Given the description of an element on the screen output the (x, y) to click on. 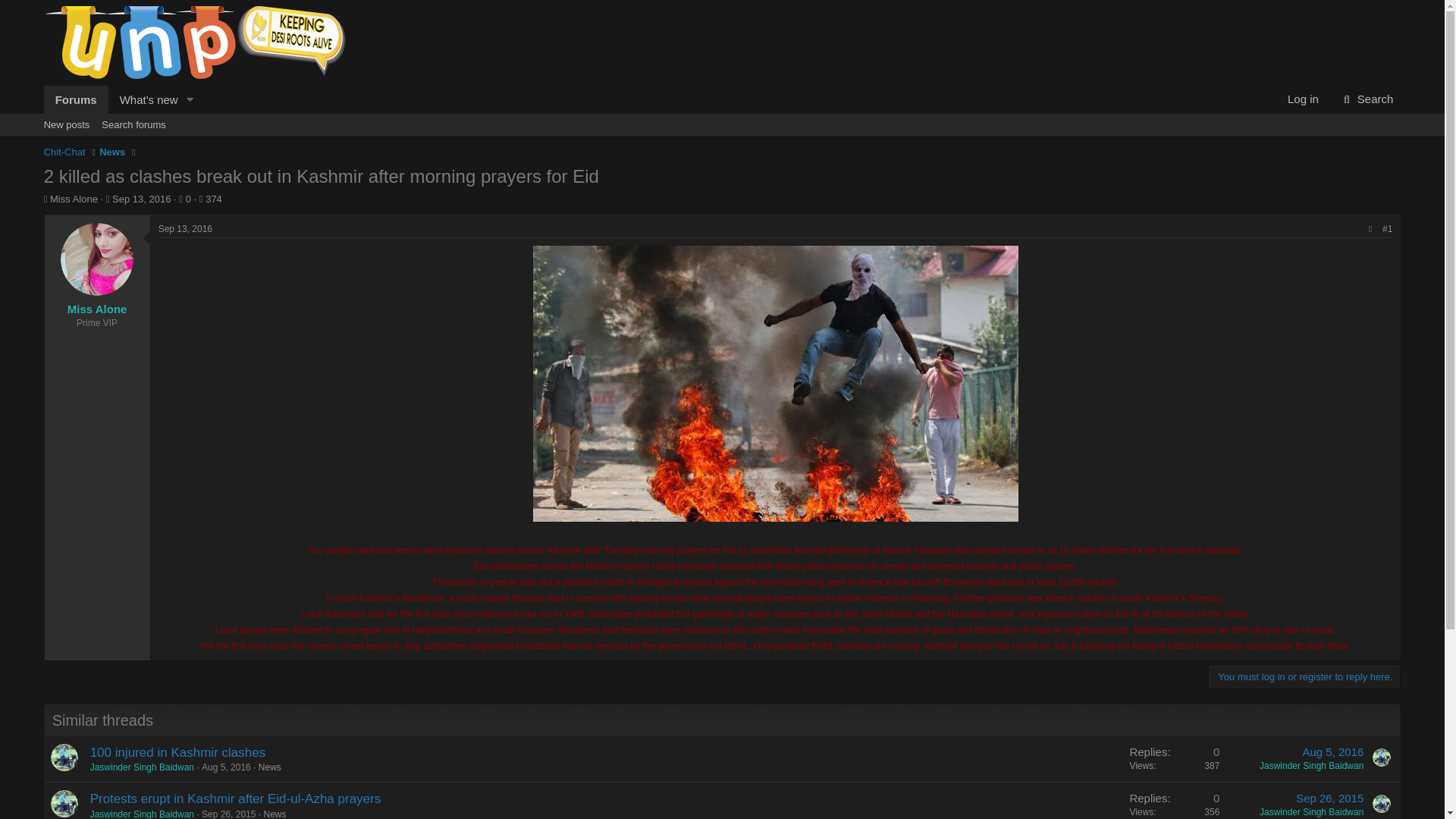
News (270, 767)
First message reaction score: 0 (1173, 800)
Aug 5, 2016 (1331, 750)
Sep 13, 2016 at 1:15 PM (141, 198)
First message reaction score: 0 (1173, 758)
Thread starter (45, 198)
Sep 26, 2015 at 11:10 AM (122, 116)
Log in (229, 814)
News (1302, 99)
What's new (112, 151)
burningprotestkillingskashmirbalaclavasr-1.jpg (143, 99)
Chit-Chat (141, 767)
